Given the description of an element on the screen output the (x, y) to click on. 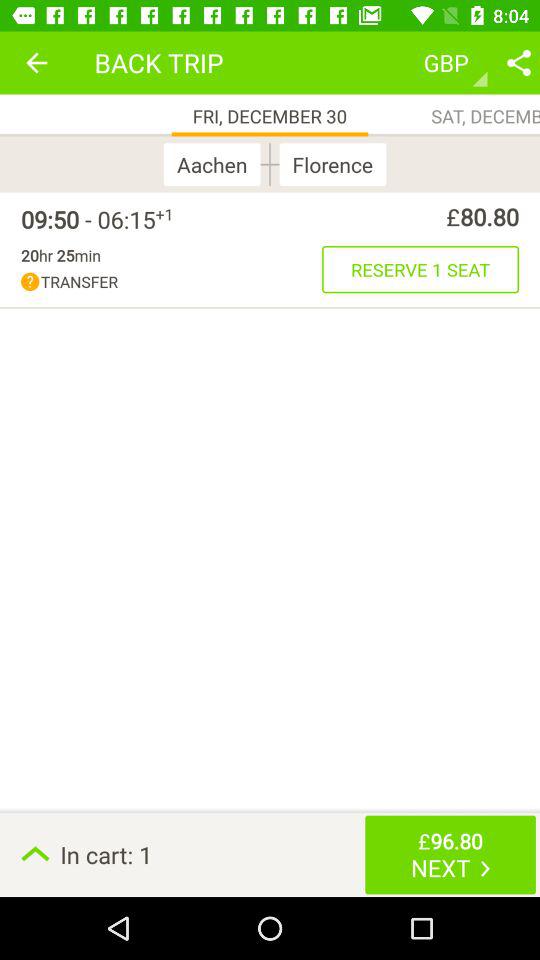
swipe to transfer icon (171, 281)
